Given the description of an element on the screen output the (x, y) to click on. 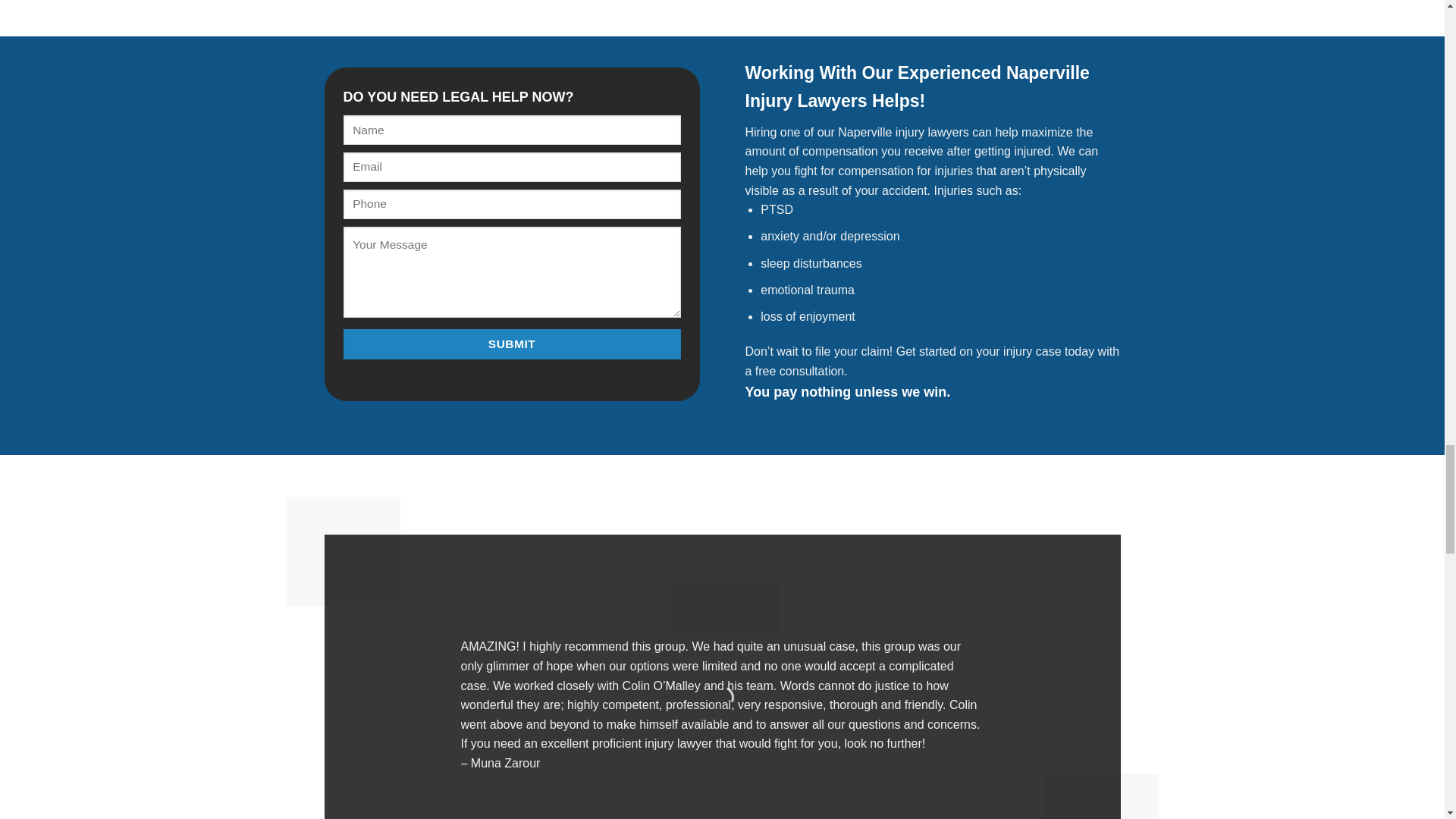
Submit (510, 343)
